Given the description of an element on the screen output the (x, y) to click on. 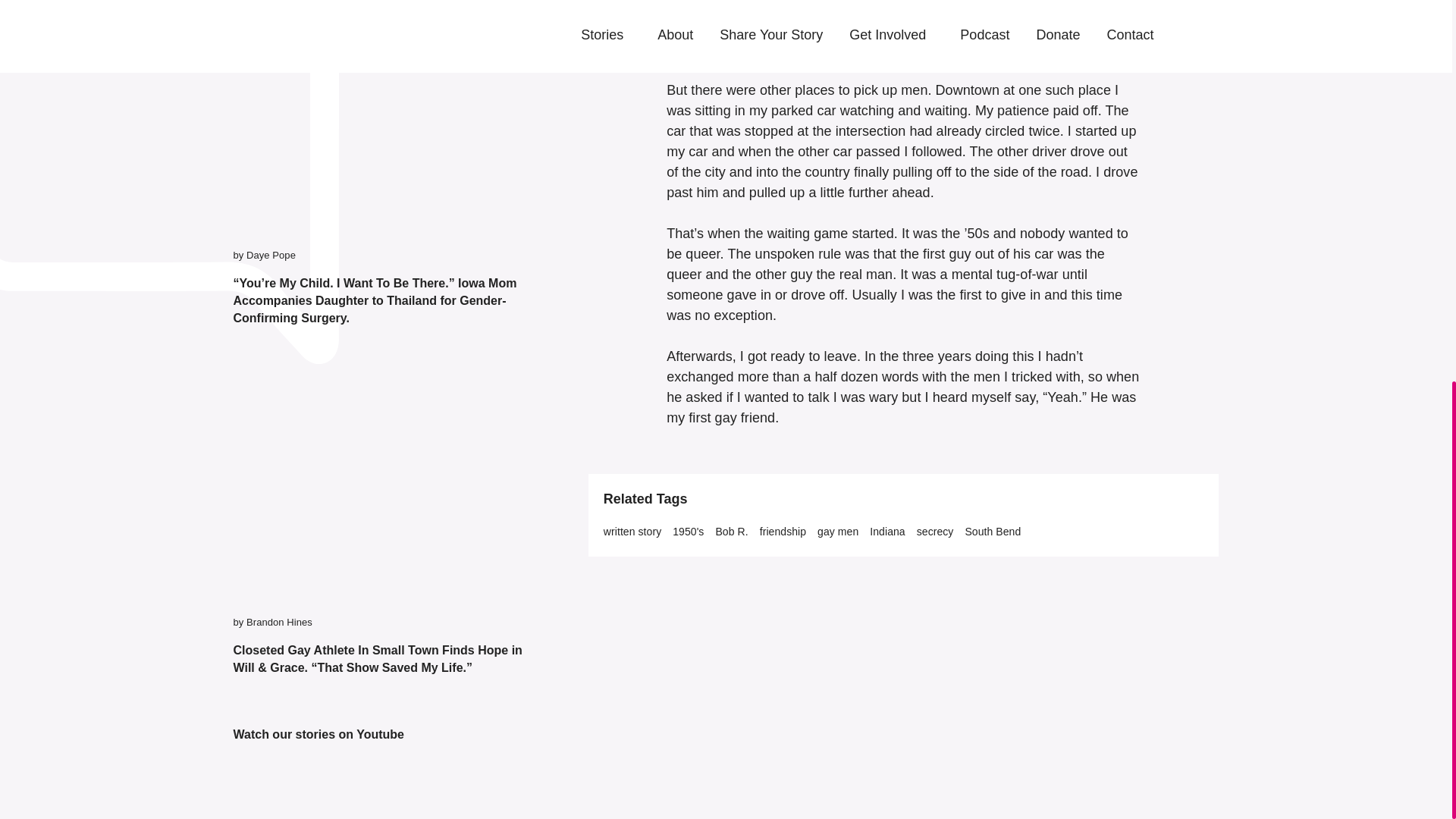
secrecy (935, 531)
Indiana (886, 531)
gay men (837, 531)
Bob R. (731, 531)
written story (632, 531)
1950's (687, 531)
South Bend (991, 531)
friendship (783, 531)
